Given the description of an element on the screen output the (x, y) to click on. 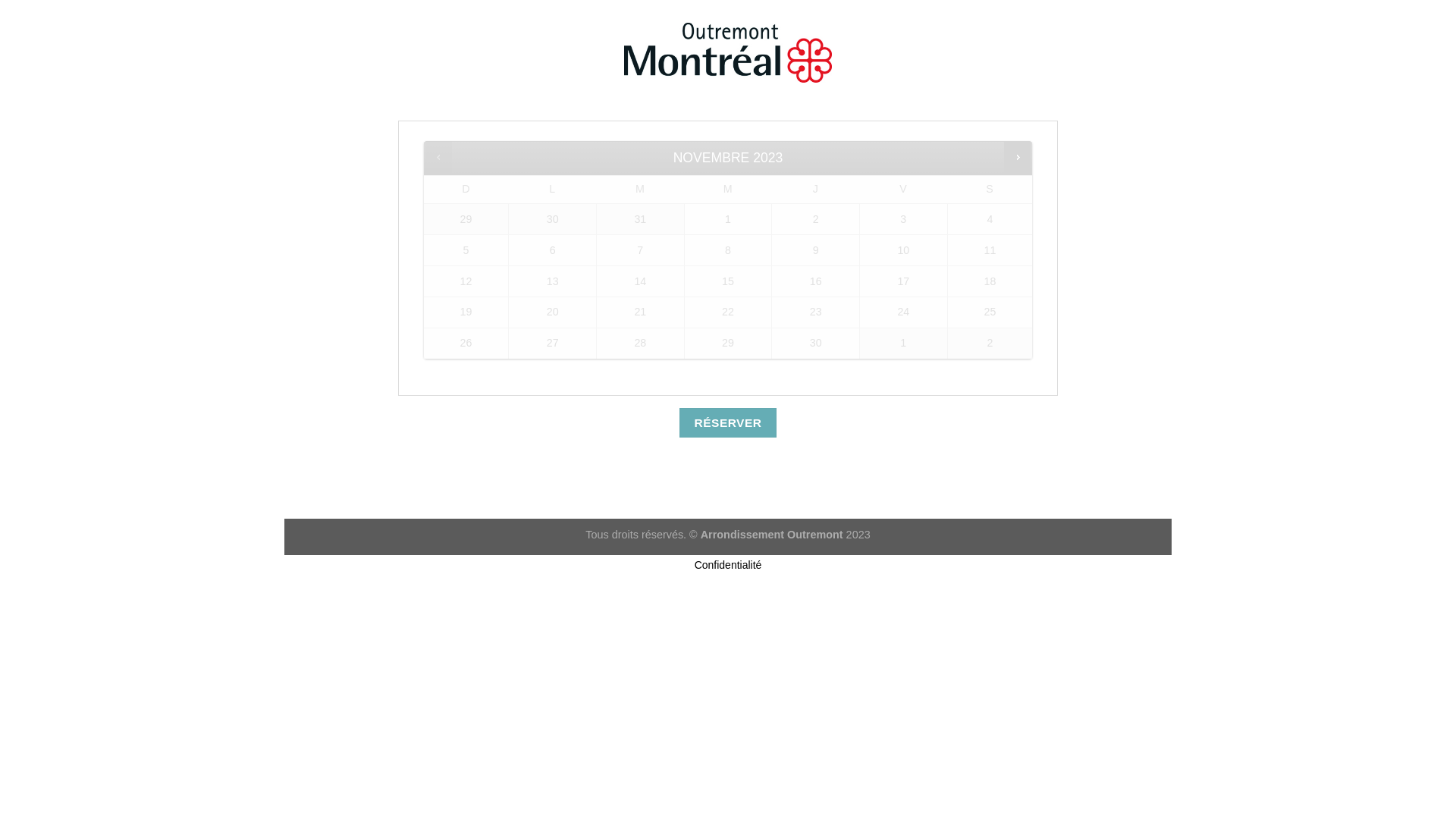
Skip to content Element type: text (283, 21)
Arr-Outremont.ca - Permis Journalier Gratuit Element type: hover (727, 52)
SUIVANT Element type: text (1017, 157)
